Given the description of an element on the screen output the (x, y) to click on. 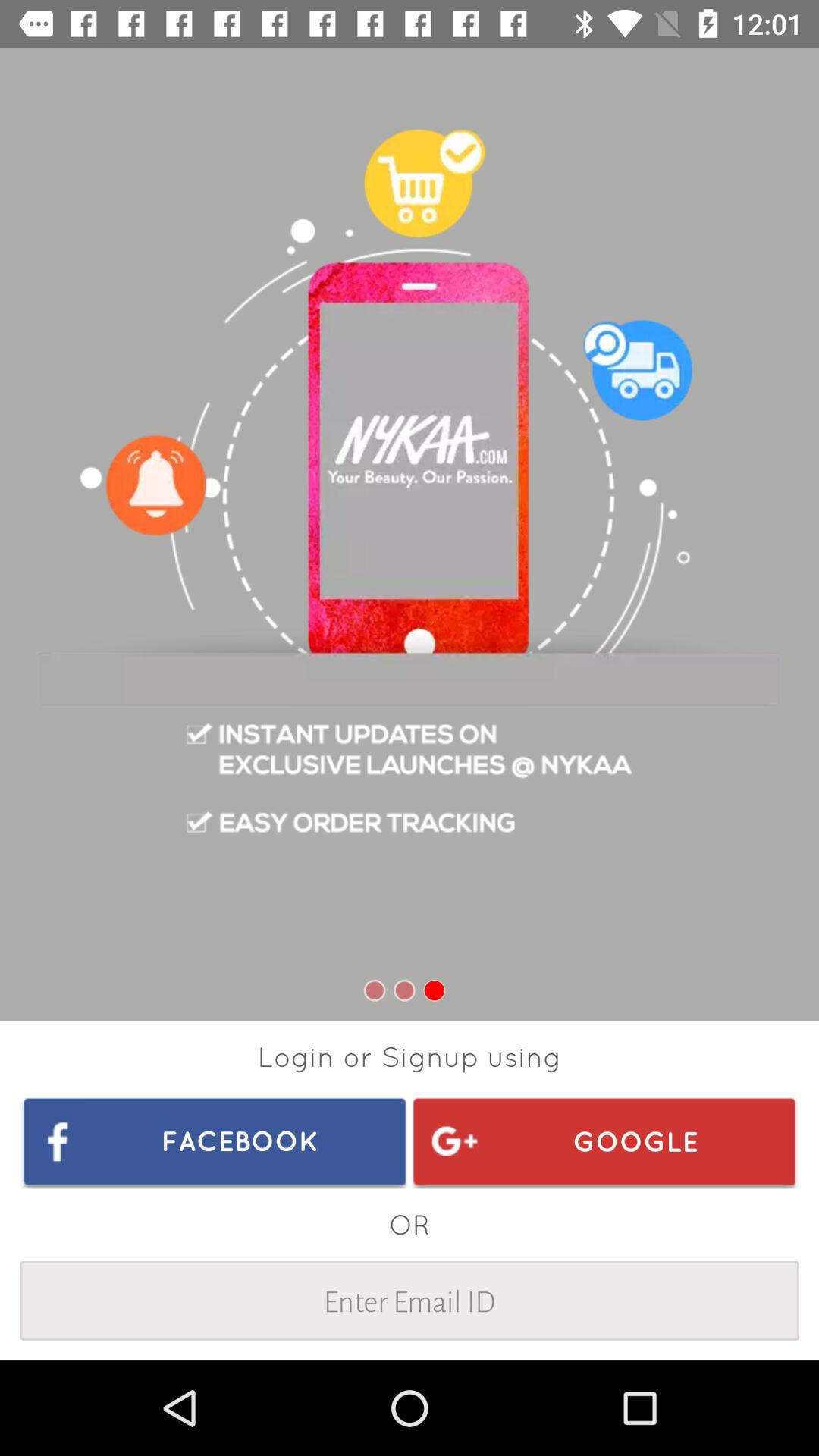
launch the icon above or icon (214, 1140)
